Given the description of an element on the screen output the (x, y) to click on. 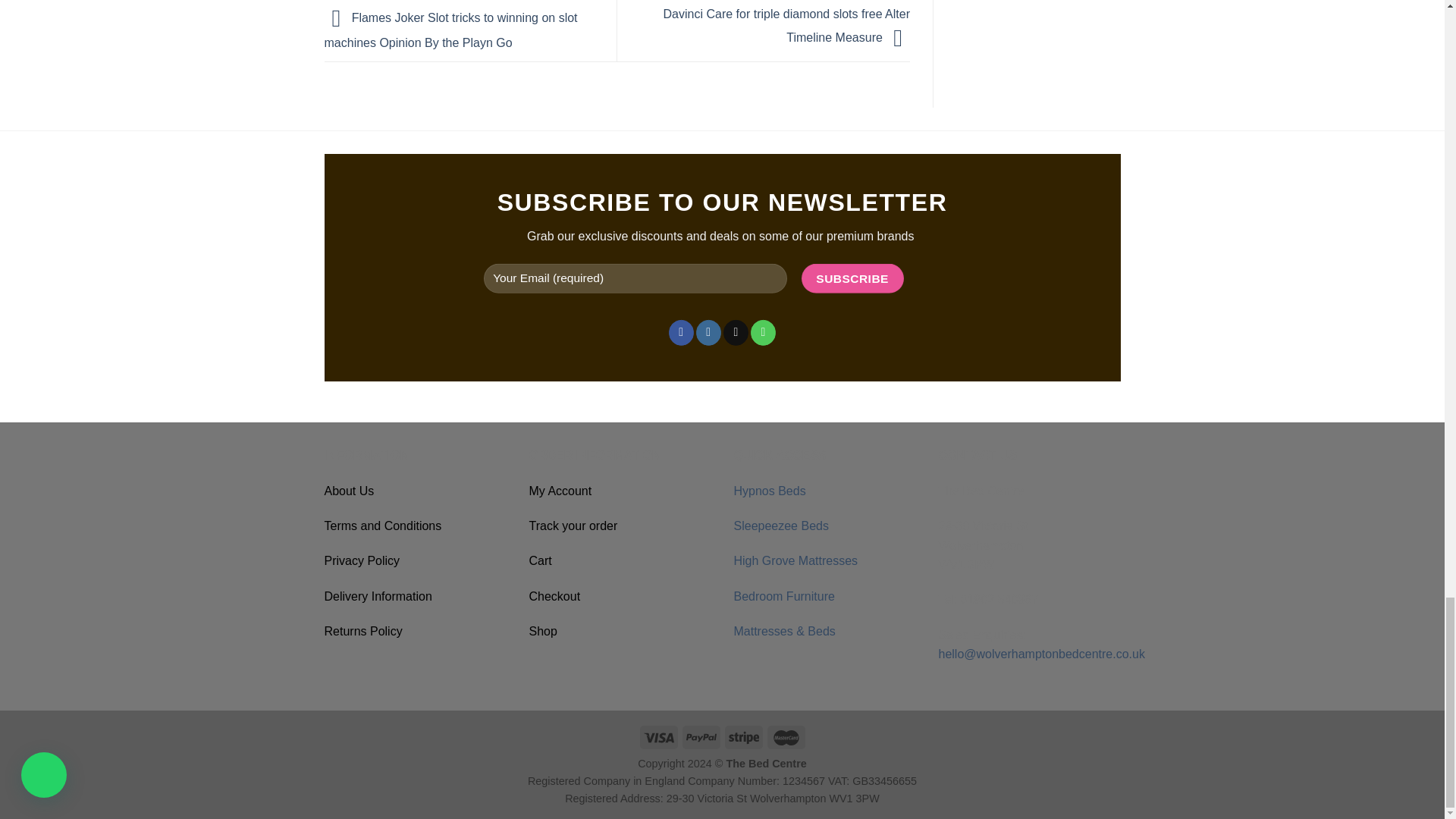
Subscribe (853, 278)
